Given the description of an element on the screen output the (x, y) to click on. 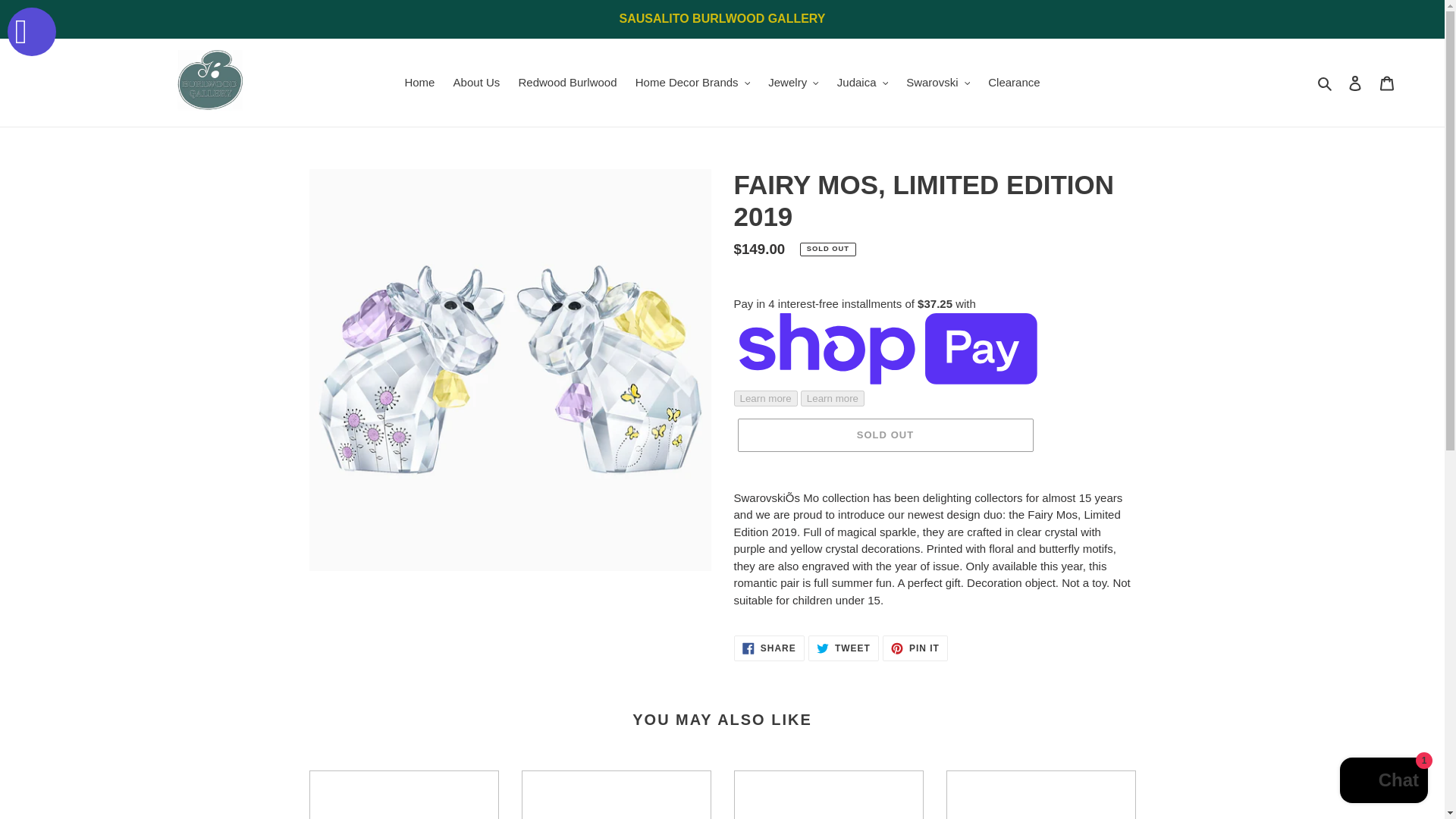
Home (419, 83)
About Us (476, 83)
Redwood Burlwood (567, 83)
Home Decor Brands (692, 83)
Jewelry (792, 83)
Shopify online store chat (1383, 781)
